Given the description of an element on the screen output the (x, y) to click on. 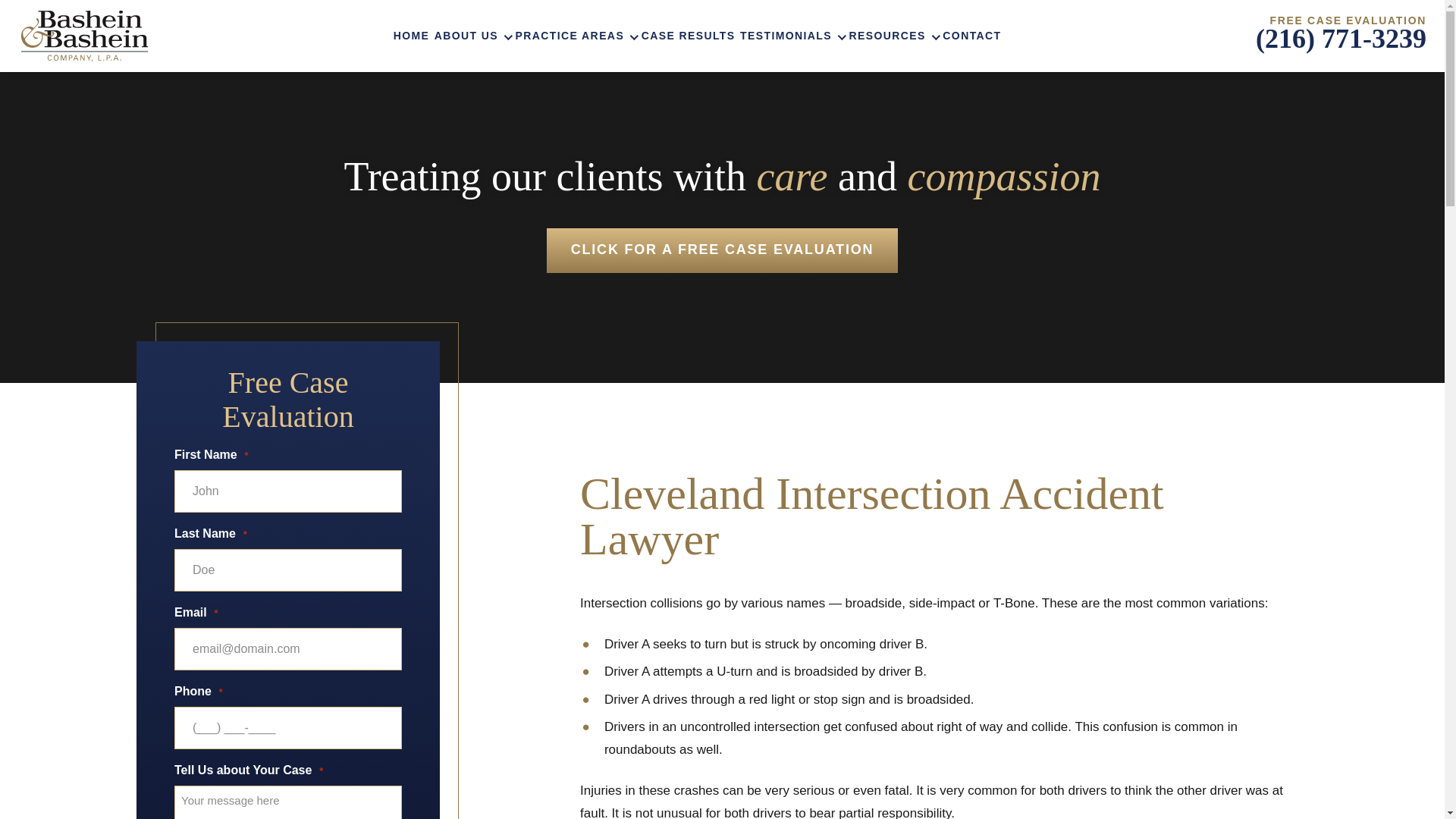
HOME (411, 36)
PRACTICE AREAS (576, 36)
CONTACT (971, 36)
Phone (1340, 43)
TESTIMONIALS (791, 36)
CLICK FOR A FREE CASE EVALUATION (722, 249)
ABOUT US (472, 36)
CASE RESULTS (688, 36)
RESOURCES (892, 36)
